Given the description of an element on the screen output the (x, y) to click on. 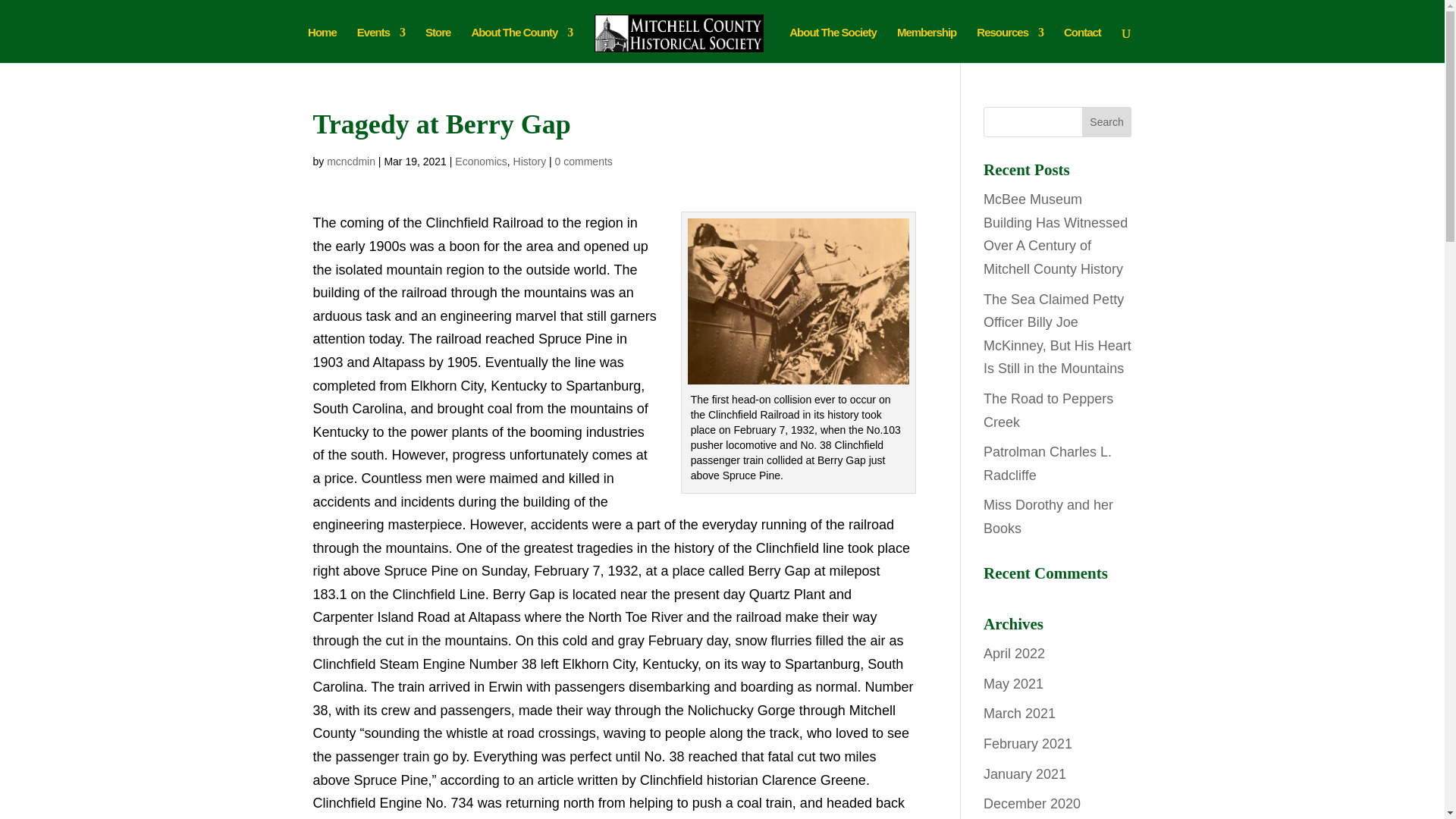
Contact (1082, 45)
Membership (926, 45)
Search (1106, 122)
Resources (1009, 45)
Events (380, 45)
About The Society (832, 45)
About The County (521, 45)
Posts by mcncdmin (350, 161)
